Given the description of an element on the screen output the (x, y) to click on. 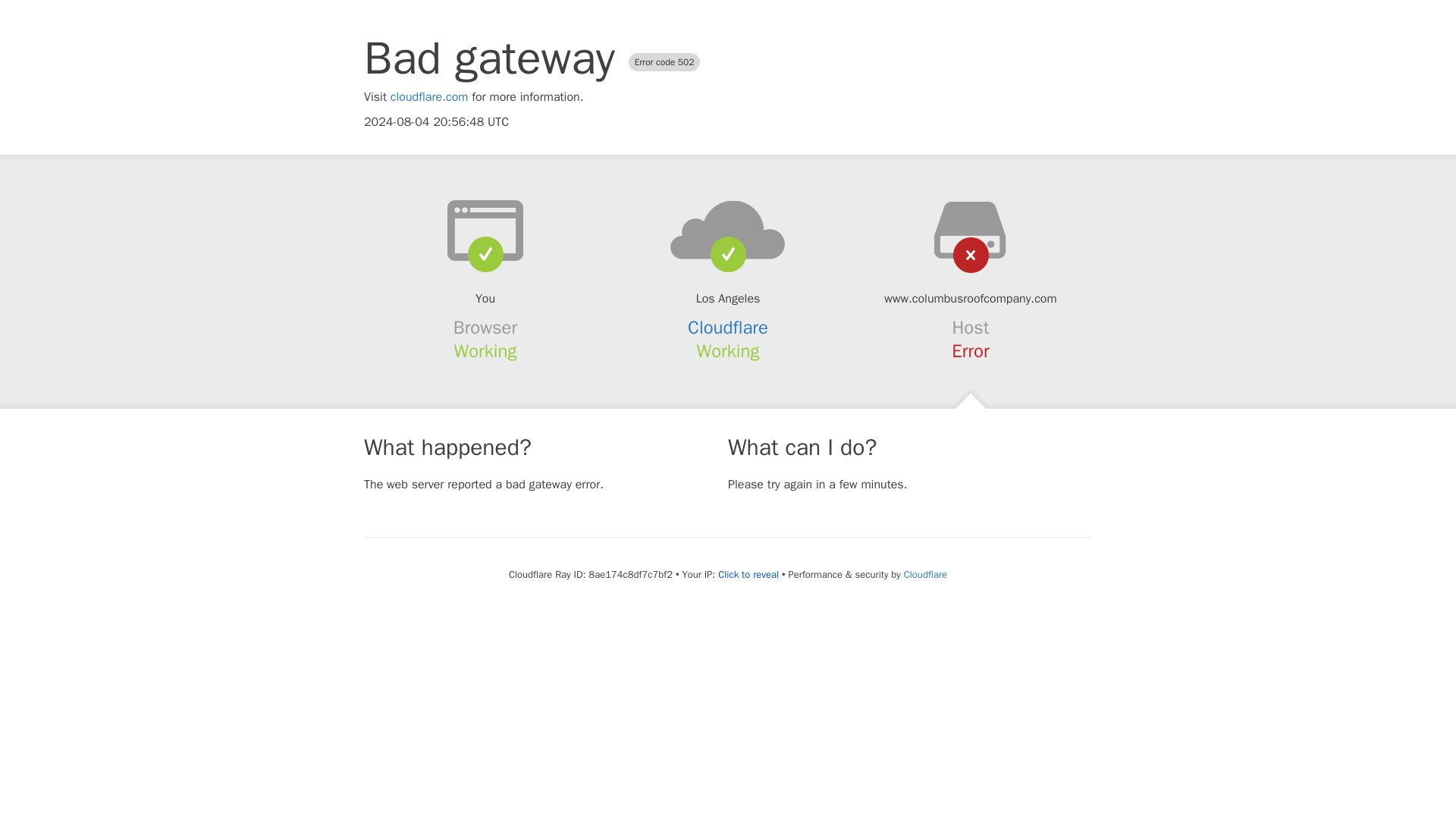
Click to reveal (747, 574)
Cloudflare (925, 574)
Cloudflare (727, 327)
cloudflare.com (429, 96)
